Given the description of an element on the screen output the (x, y) to click on. 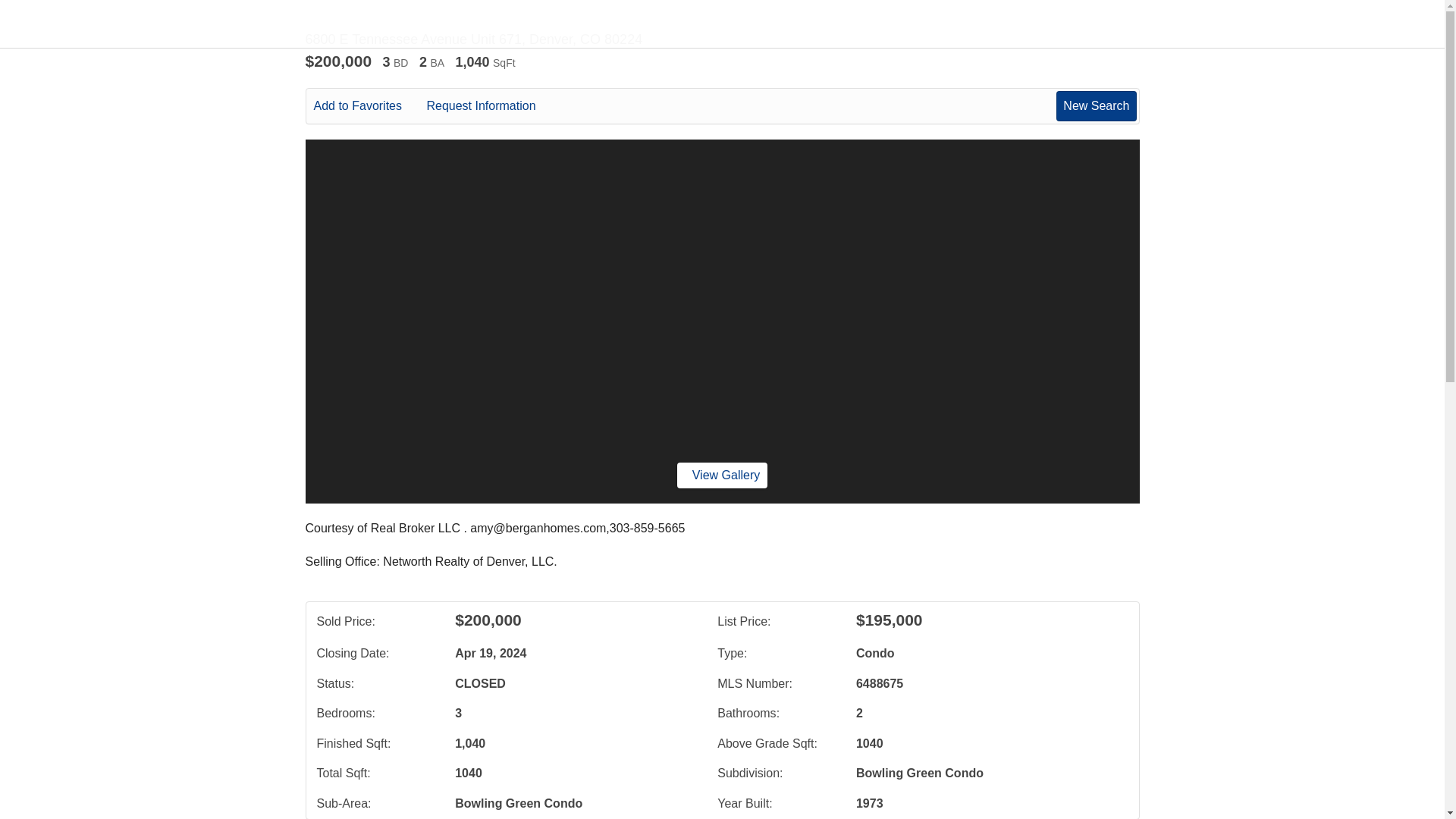
Request Information (491, 106)
New Search (1096, 105)
View Gallery (722, 474)
View Gallery (722, 475)
Add to Favorites (368, 106)
